Given the description of an element on the screen output the (x, y) to click on. 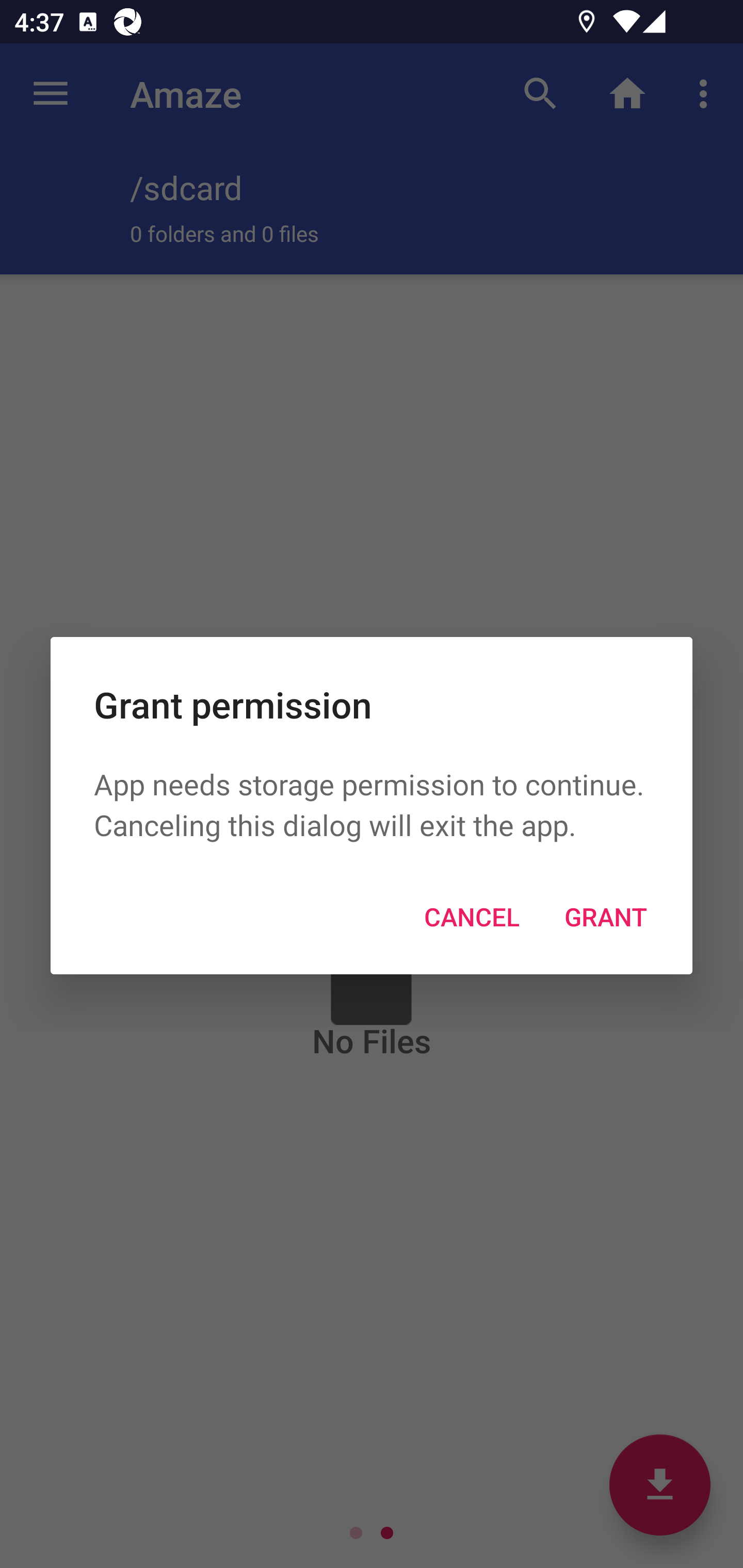
CANCEL (470, 916)
GRANT (605, 916)
